Given the description of an element on the screen output the (x, y) to click on. 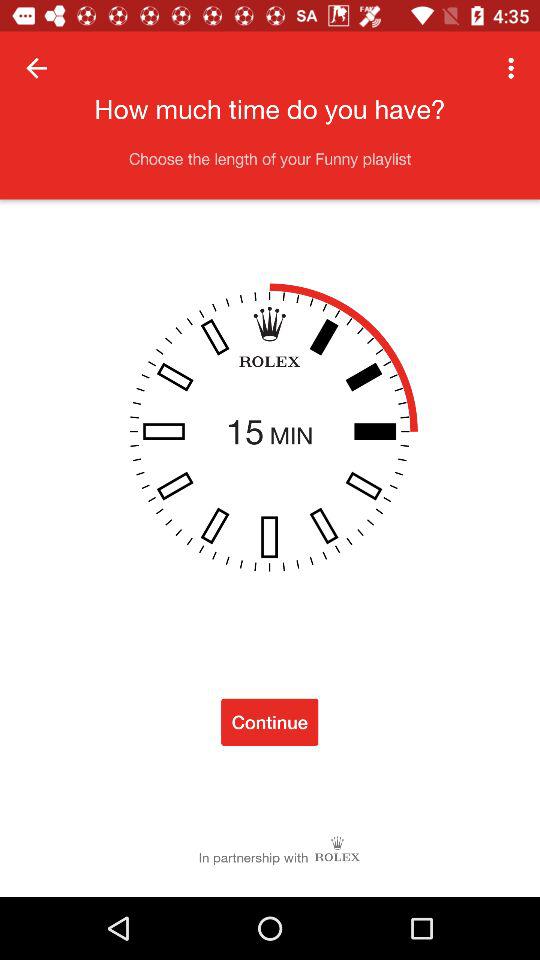
click item at the top left corner (36, 68)
